Given the description of an element on the screen output the (x, y) to click on. 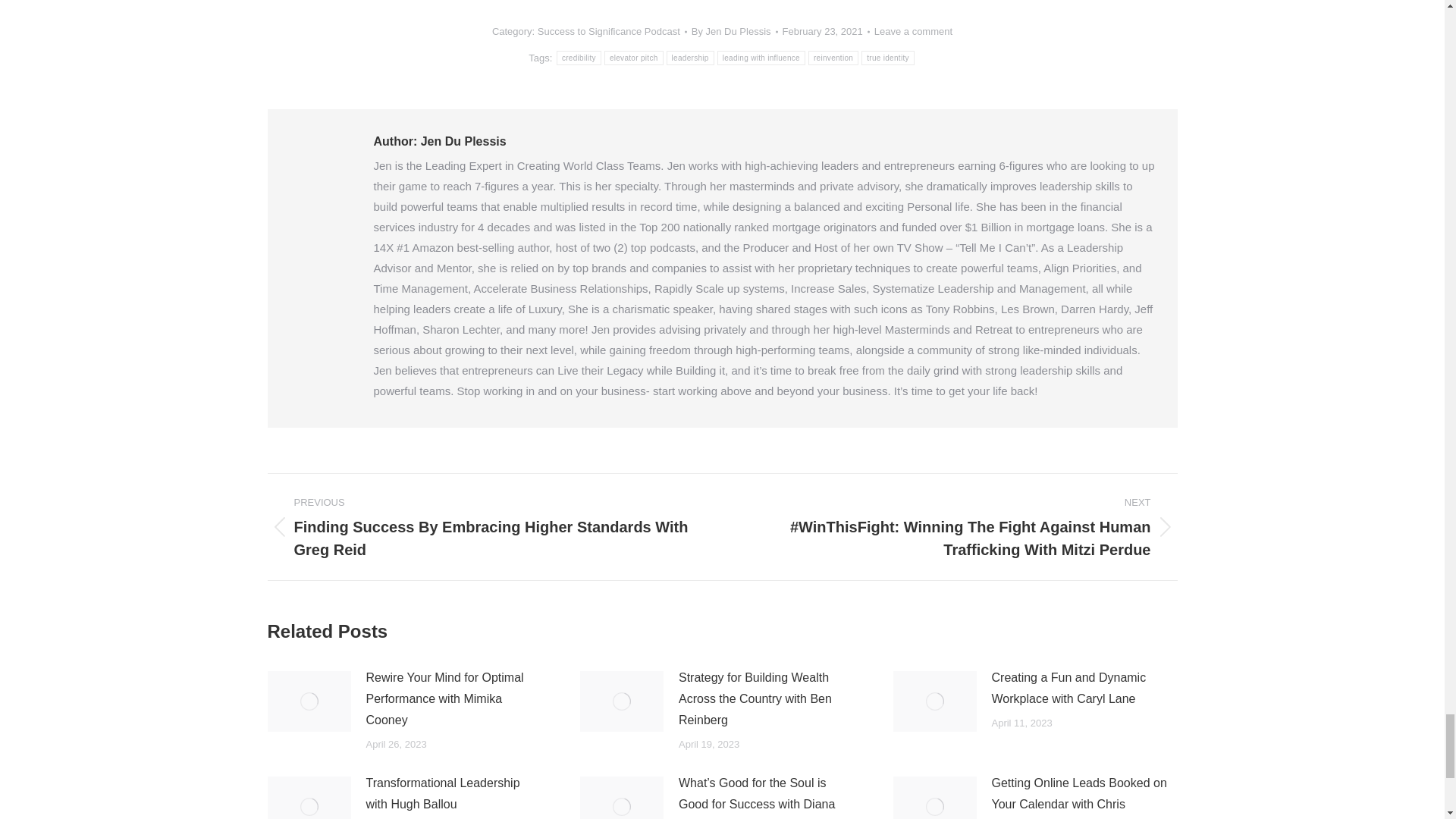
3:00 am (826, 31)
February 23, 2021 (826, 31)
Success to Significance Podcast (608, 30)
View all posts by Jen Du Plessis (734, 31)
By Jen Du Plessis (734, 31)
